Given the description of an element on the screen output the (x, y) to click on. 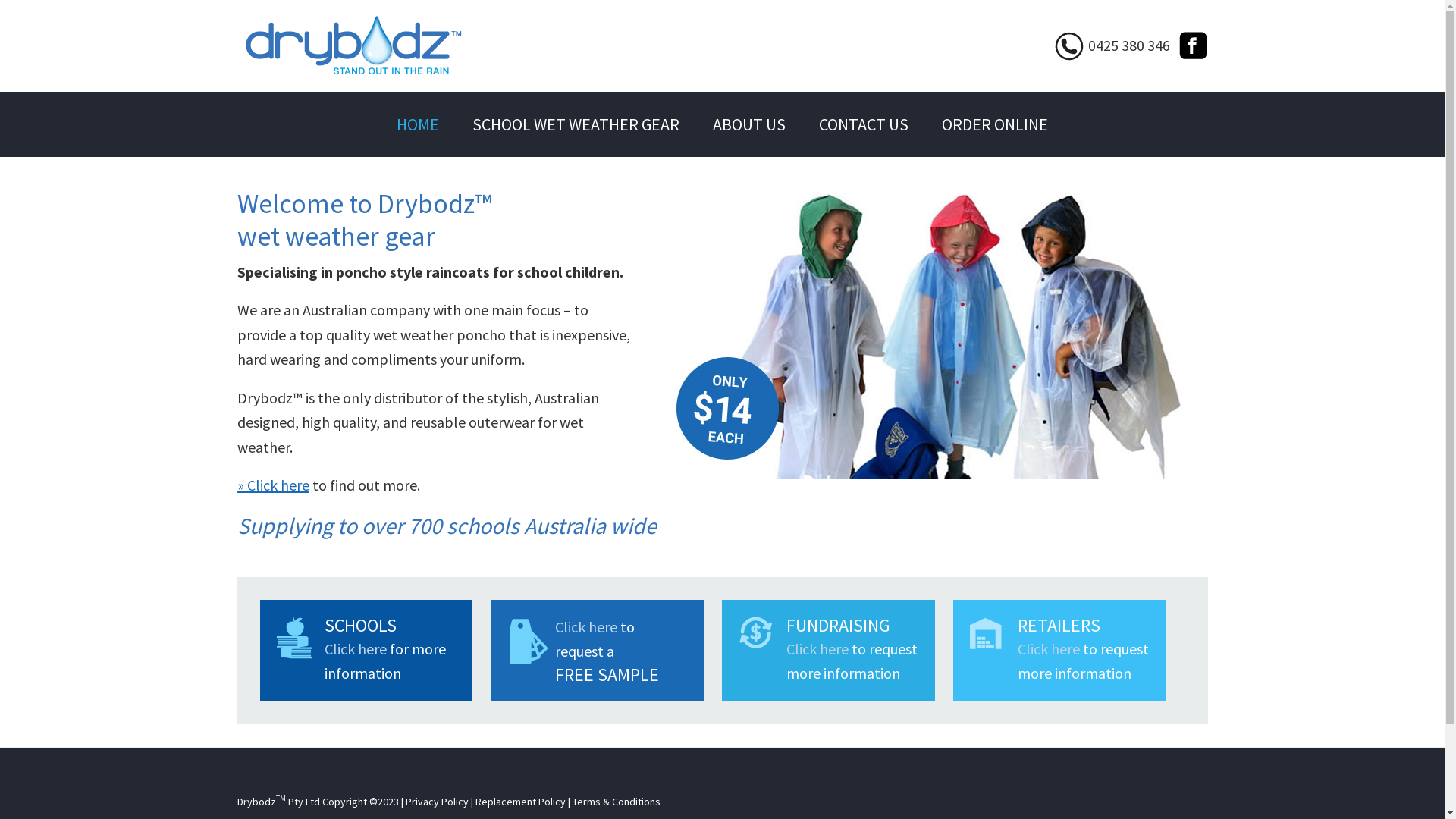
HOME Element type: text (417, 123)
ABOUT US Element type: text (748, 123)
RETAILERS Element type: text (1058, 625)
FREE SAMPLE Element type: text (606, 674)
SCHOOL WET WEATHER GEAR Element type: text (575, 123)
Drybodz Element type: text (350, 45)
Skip to primary navigation Element type: text (0, 0)
Click here Element type: text (355, 648)
Replacement Policy Element type: text (519, 801)
Click here Element type: text (1048, 648)
ORDER ONLINE Element type: text (994, 123)
SCHOOLS Element type: text (360, 625)
Click here Element type: text (586, 626)
Privacy Policy Element type: text (435, 801)
Terms & Conditions Element type: text (615, 801)
Click here Element type: text (817, 648)
FUNDRAISING Element type: text (838, 625)
CONTACT US Element type: text (863, 123)
